Given the description of an element on the screen output the (x, y) to click on. 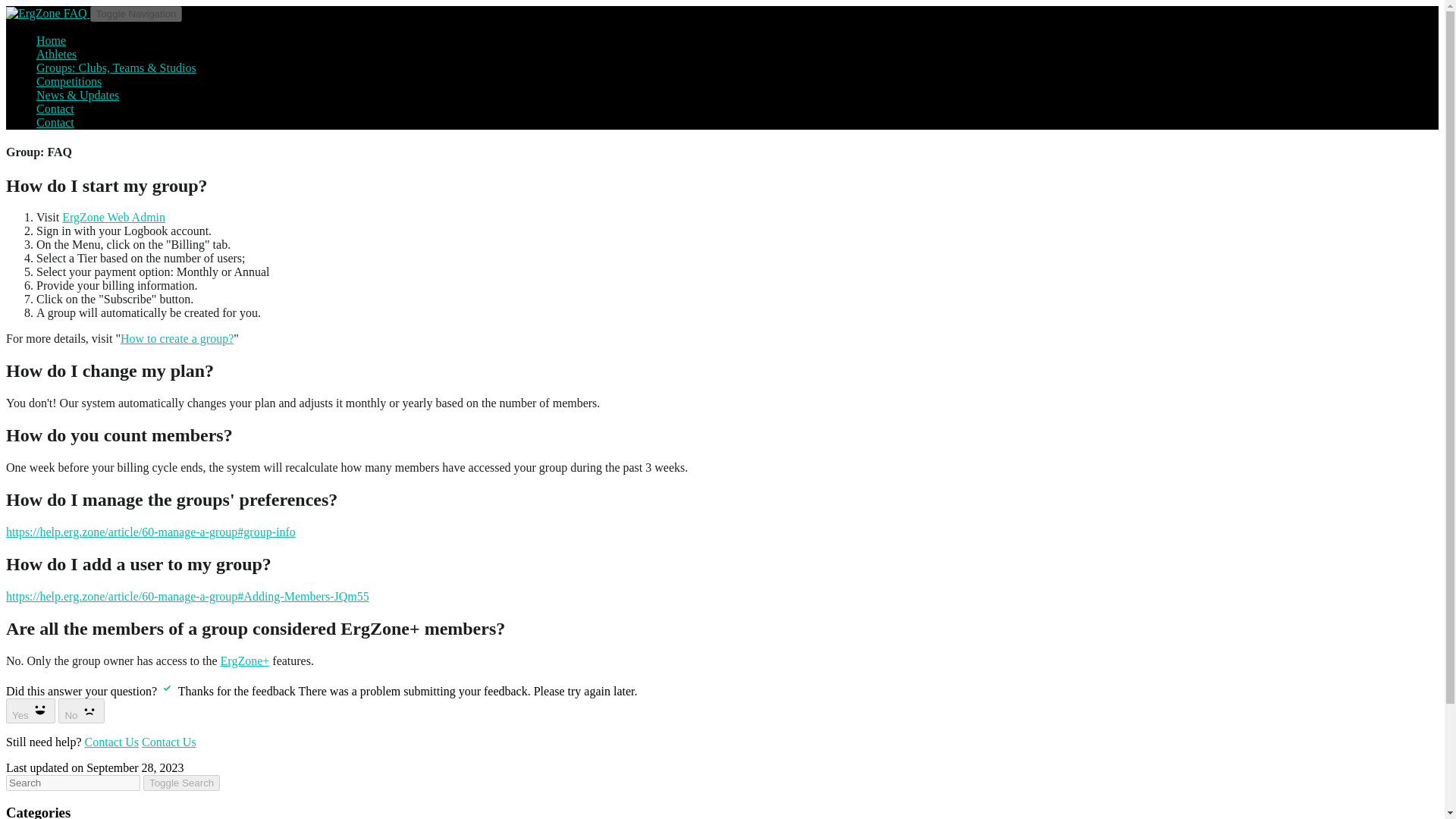
search-query (72, 782)
ErgZone Web Admin (113, 216)
Competitions (68, 81)
Contact Us (168, 741)
How to create a group? (176, 338)
No (81, 709)
Contact (55, 108)
Contact Us (111, 741)
Contact (55, 122)
Toggle Search (180, 782)
